Given the description of an element on the screen output the (x, y) to click on. 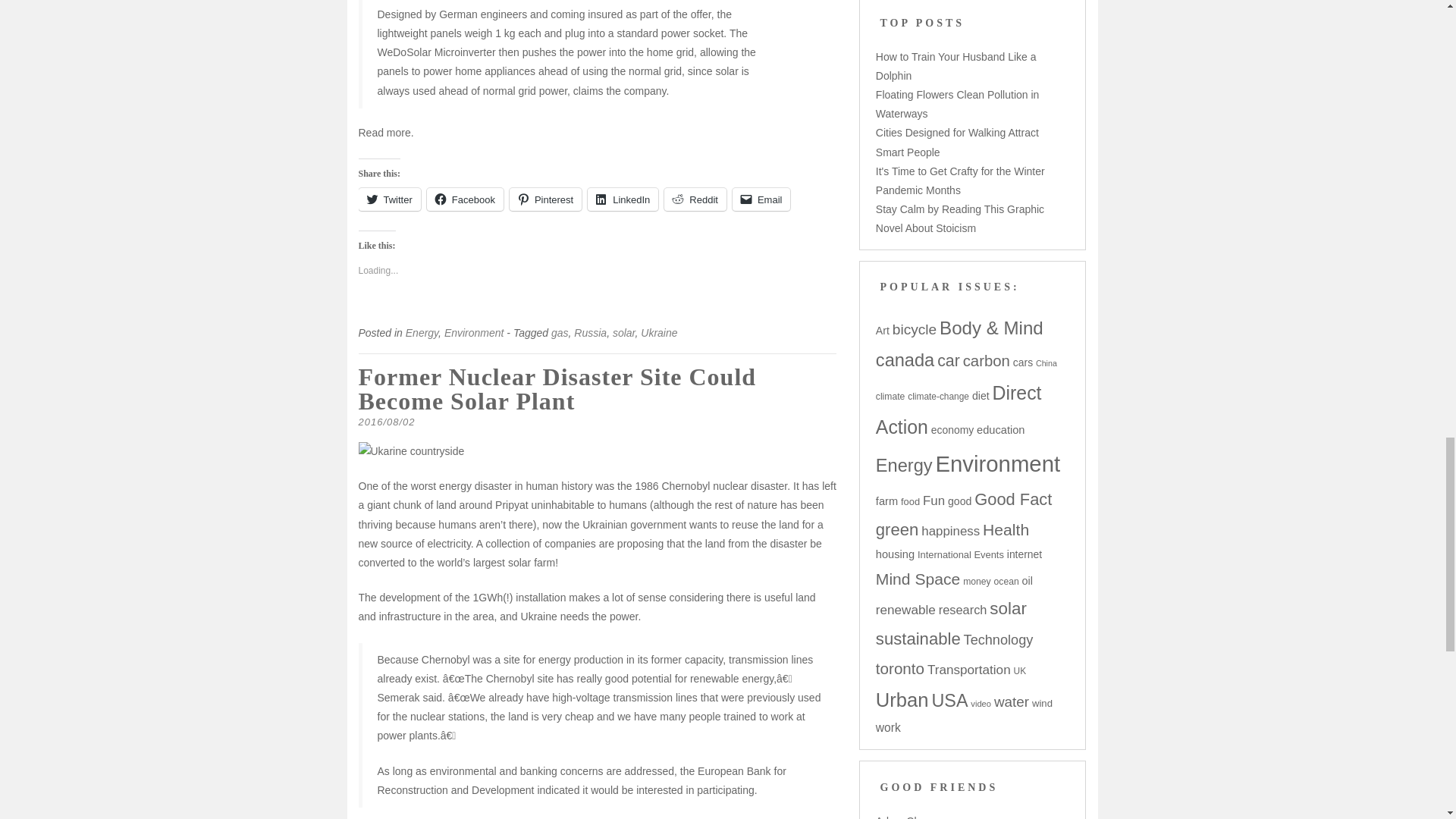
Read more. (385, 132)
Pinterest (544, 199)
Click to share on Twitter (389, 199)
LinkedIn (623, 199)
Twitter (389, 199)
Facebook (464, 199)
Click to share on Facebook (464, 199)
